Given the description of an element on the screen output the (x, y) to click on. 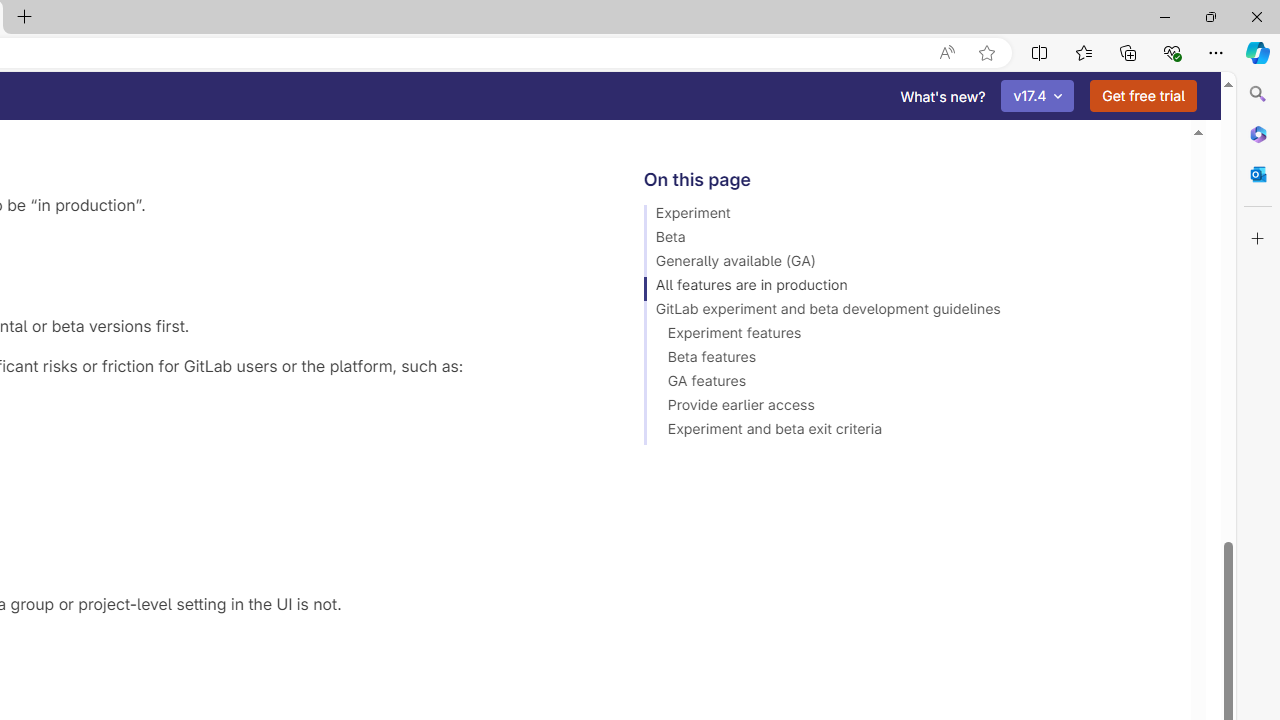
All features are in production (908, 287)
GA features (908, 384)
Experiment features (908, 336)
Experiment features (908, 336)
Experiment (908, 215)
Generally available (GA) (908, 264)
GitLab experiment and beta development guidelines (908, 312)
Experiment and beta exit criteria (908, 431)
